Given the description of an element on the screen output the (x, y) to click on. 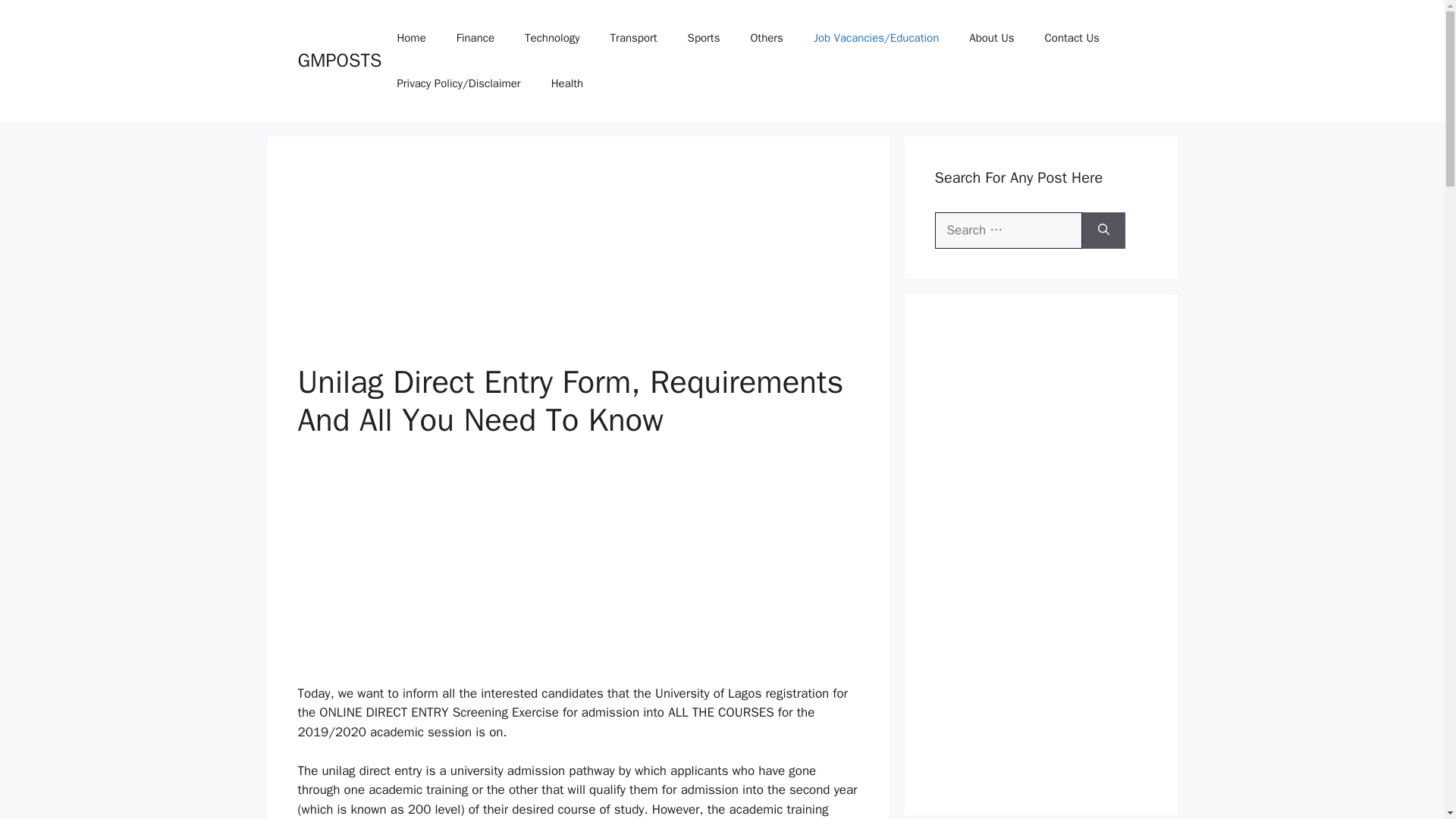
Others (766, 37)
GMPOSTS (339, 60)
Sports (703, 37)
Search for: (1007, 230)
Home (411, 37)
About Us (991, 37)
Contact Us (1072, 37)
Health (566, 83)
Technology (552, 37)
Finance (475, 37)
